Given the description of an element on the screen output the (x, y) to click on. 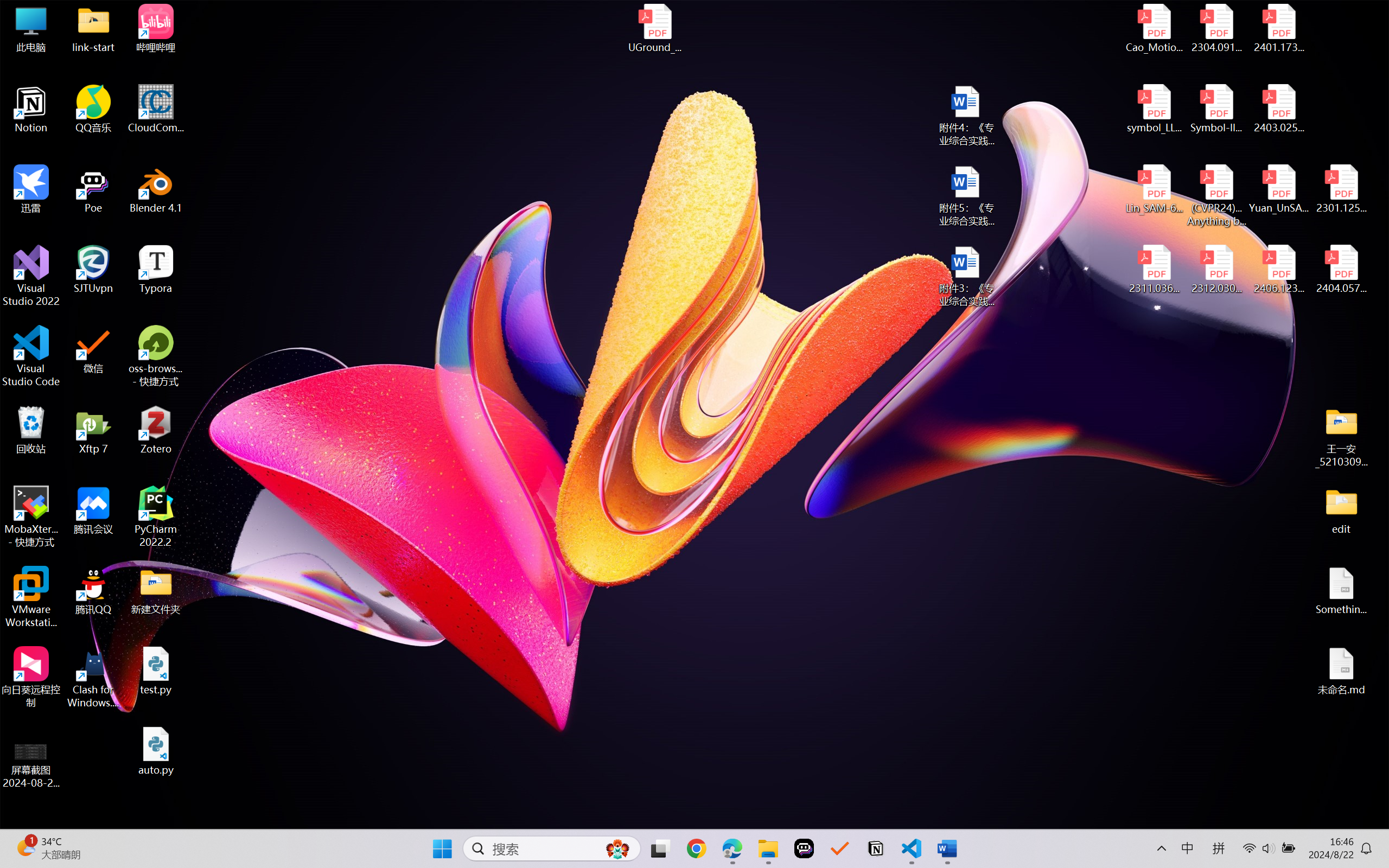
2401.17399v1.pdf (1278, 28)
symbol_LLM.pdf (1154, 109)
CloudCompare (156, 109)
Symbol-llm-v2.pdf (1216, 109)
2406.12373v2.pdf (1278, 269)
edit (1340, 510)
2312.03032v2.pdf (1216, 269)
